Given the description of an element on the screen output the (x, y) to click on. 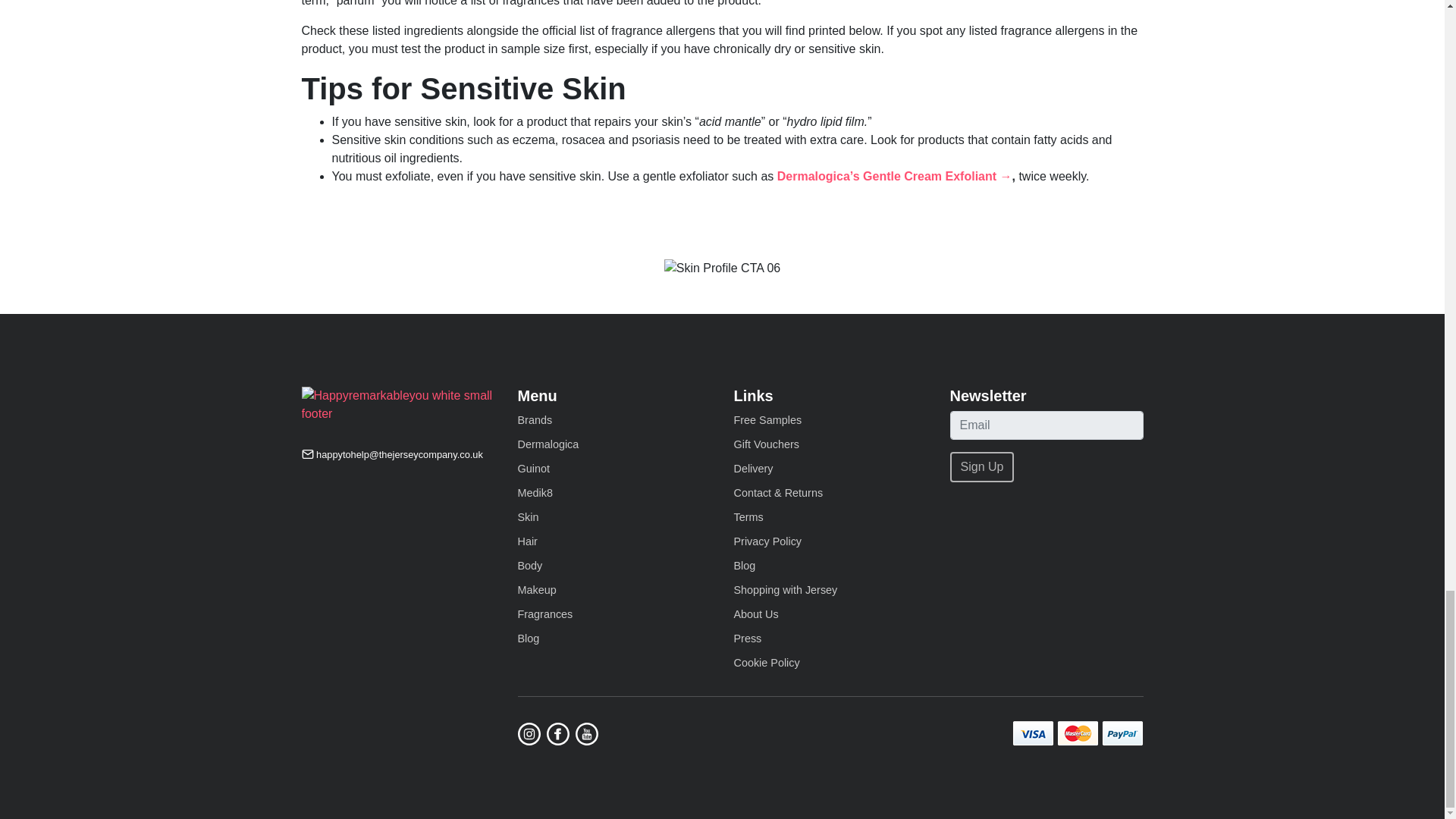
Dermalogica (547, 444)
Medik8 (533, 492)
Makeup (536, 589)
Skin (527, 517)
Brands (533, 419)
Hair (526, 541)
Guinot (532, 468)
Body (528, 565)
